Given the description of an element on the screen output the (x, y) to click on. 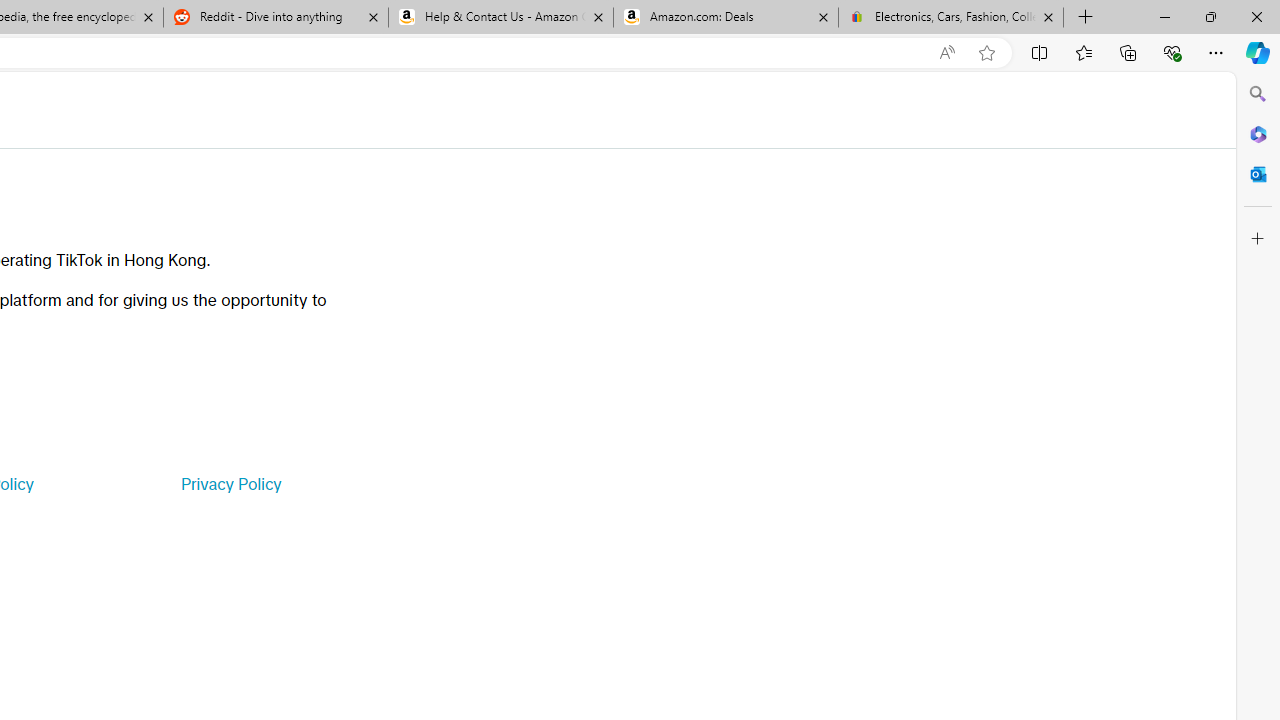
Privacy Policy (230, 484)
Amazon.com: Deals (726, 17)
